Given the description of an element on the screen output the (x, y) to click on. 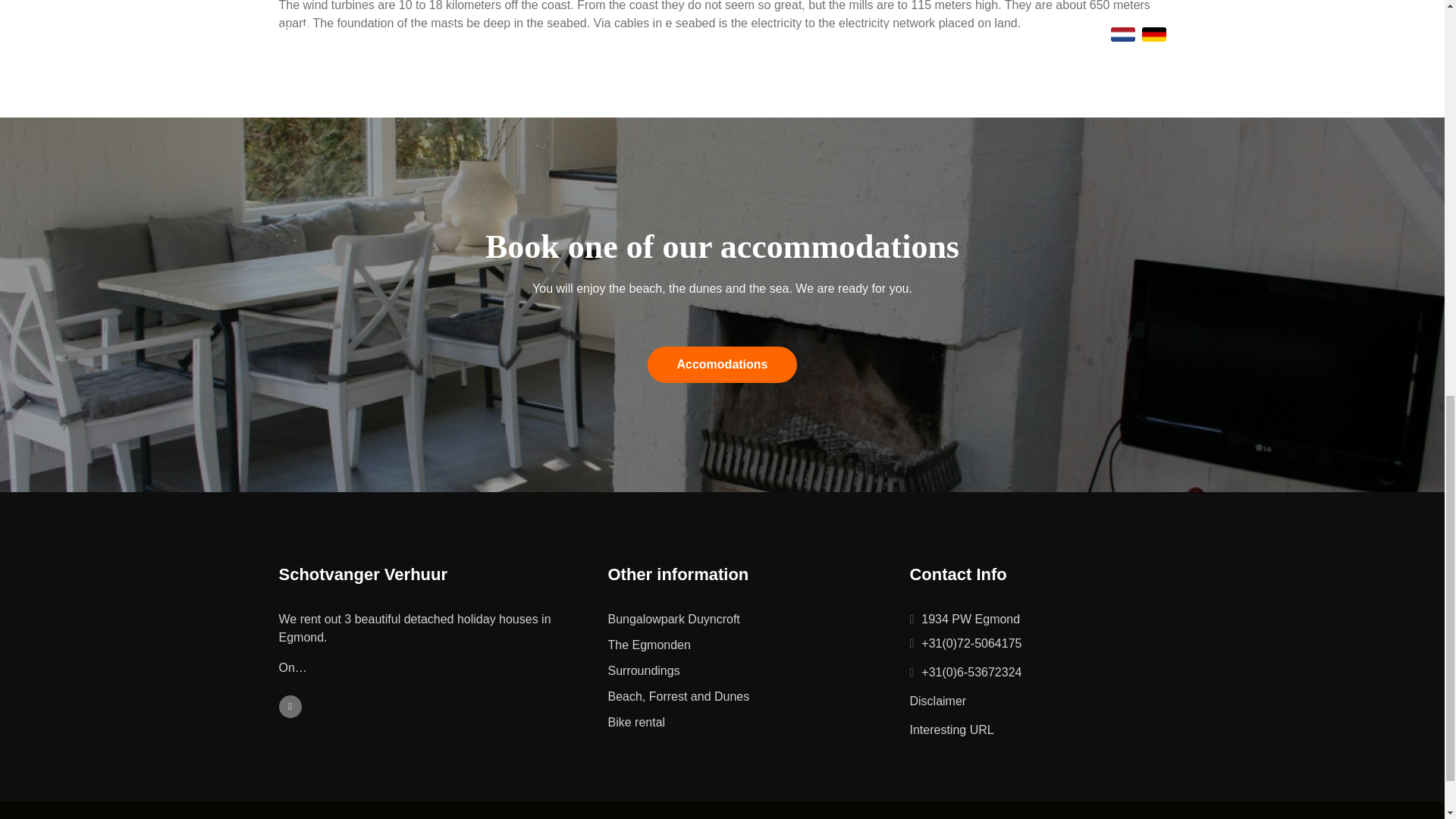
Beach, Forrest and Dunes (735, 696)
The Egmonden (735, 645)
Accomodations (721, 364)
Disclaimer (937, 701)
Bungalowpark Duyncroft (735, 619)
Surroundings (735, 670)
Bike rental (735, 722)
Interesting URL (950, 730)
